Given the description of an element on the screen output the (x, y) to click on. 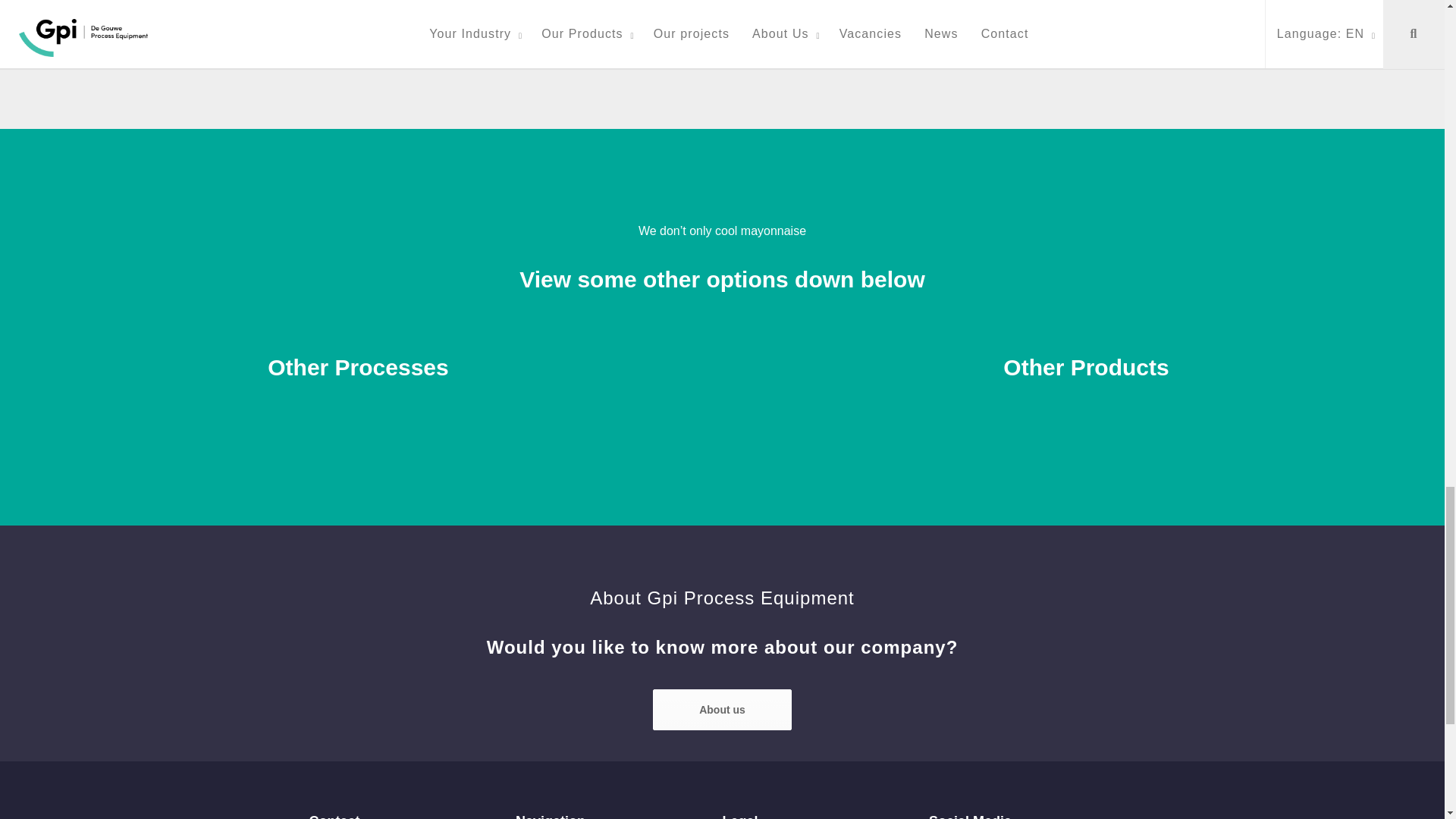
Contact (722, 709)
